Given the description of an element on the screen output the (x, y) to click on. 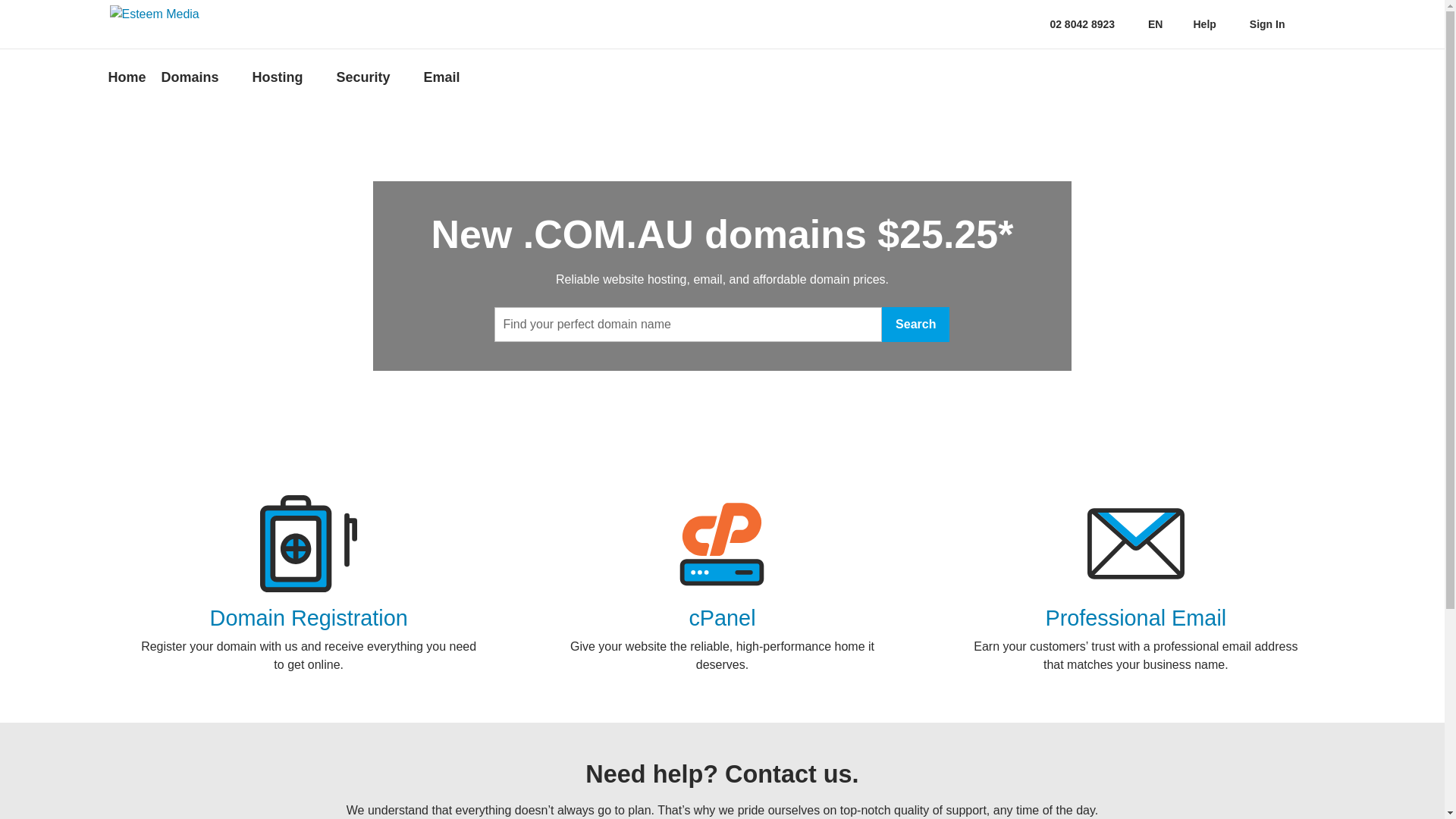
Email Element type: text (447, 77)
Contact Us Element type: hover (1037, 24)
Professional Email Element type: text (1135, 617)
02 8042 8923 Element type: text (1071, 24)
Security Element type: text (372, 77)
Home Element type: text (130, 77)
Help Element type: text (1203, 24)
EN Element type: text (1153, 24)
Domain Registration Element type: text (308, 617)
Domains Element type: text (198, 77)
Sign In Element type: text (1265, 24)
cPanel Element type: text (721, 617)
Hosting Element type: text (286, 77)
Search Element type: text (915, 324)
